Given the description of an element on the screen output the (x, y) to click on. 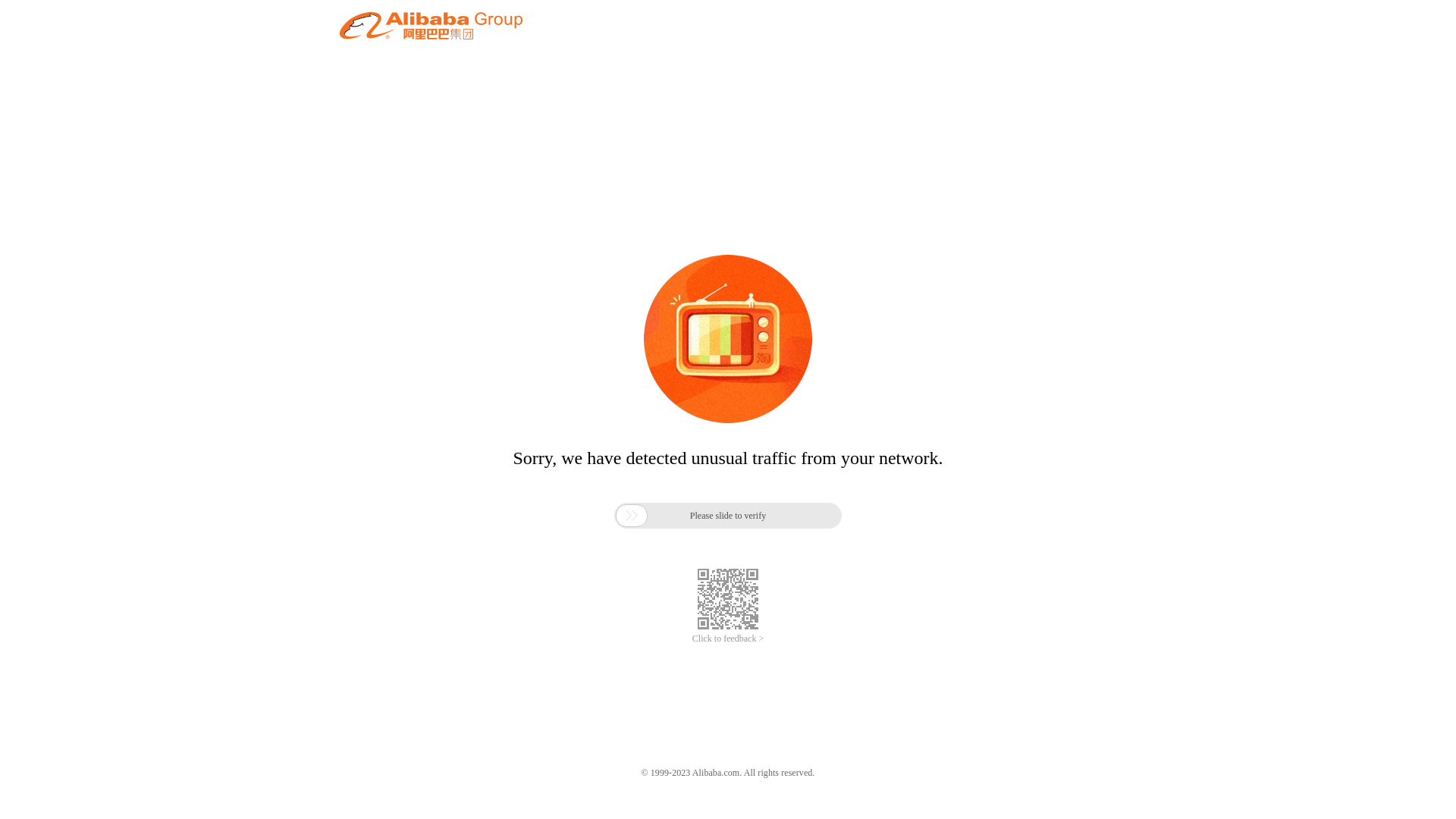
Click to feedback > Element type: text (727, 638)
